Given the description of an element on the screen output the (x, y) to click on. 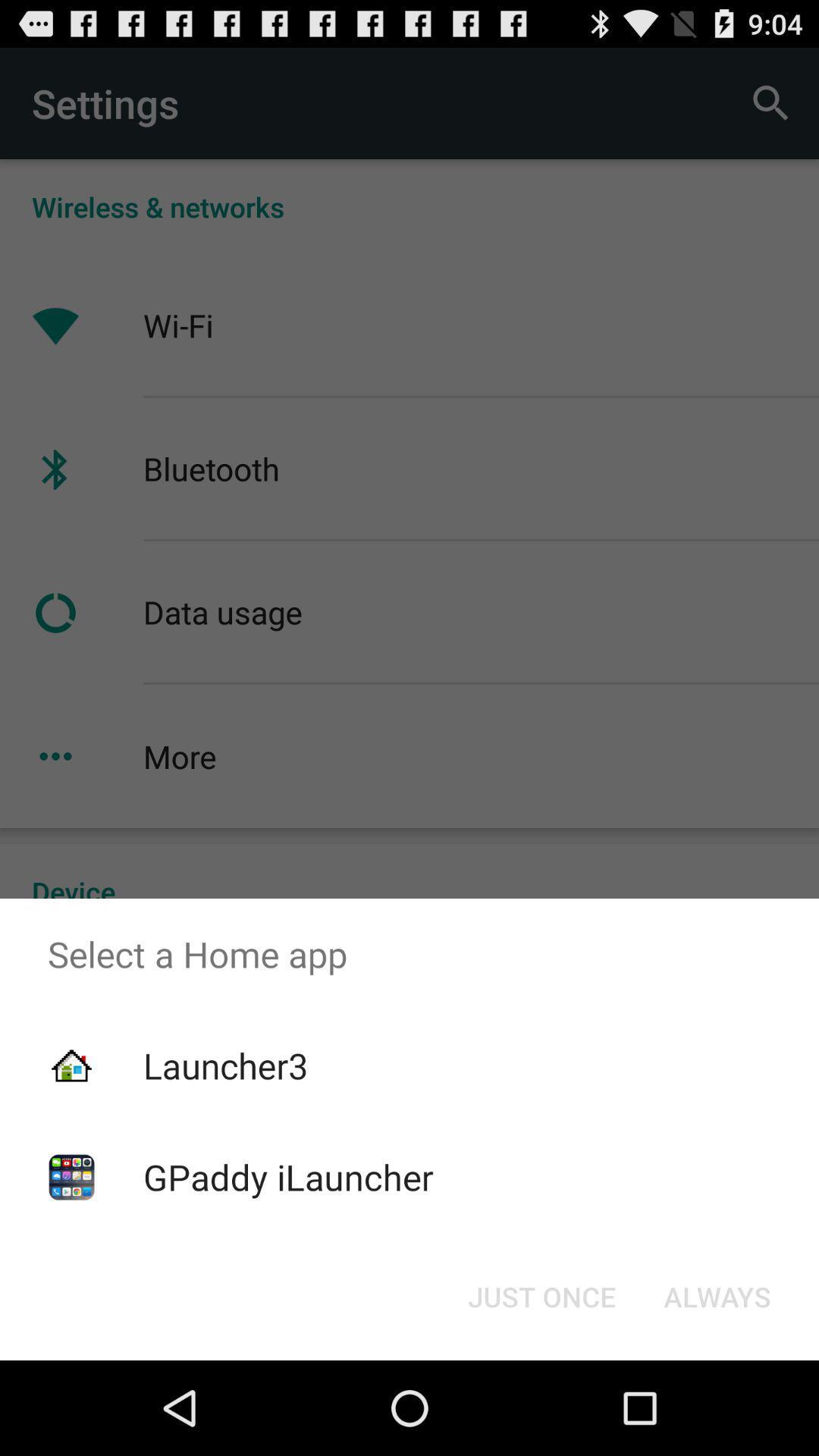
jump to gpaddy ilauncher icon (288, 1176)
